Given the description of an element on the screen output the (x, y) to click on. 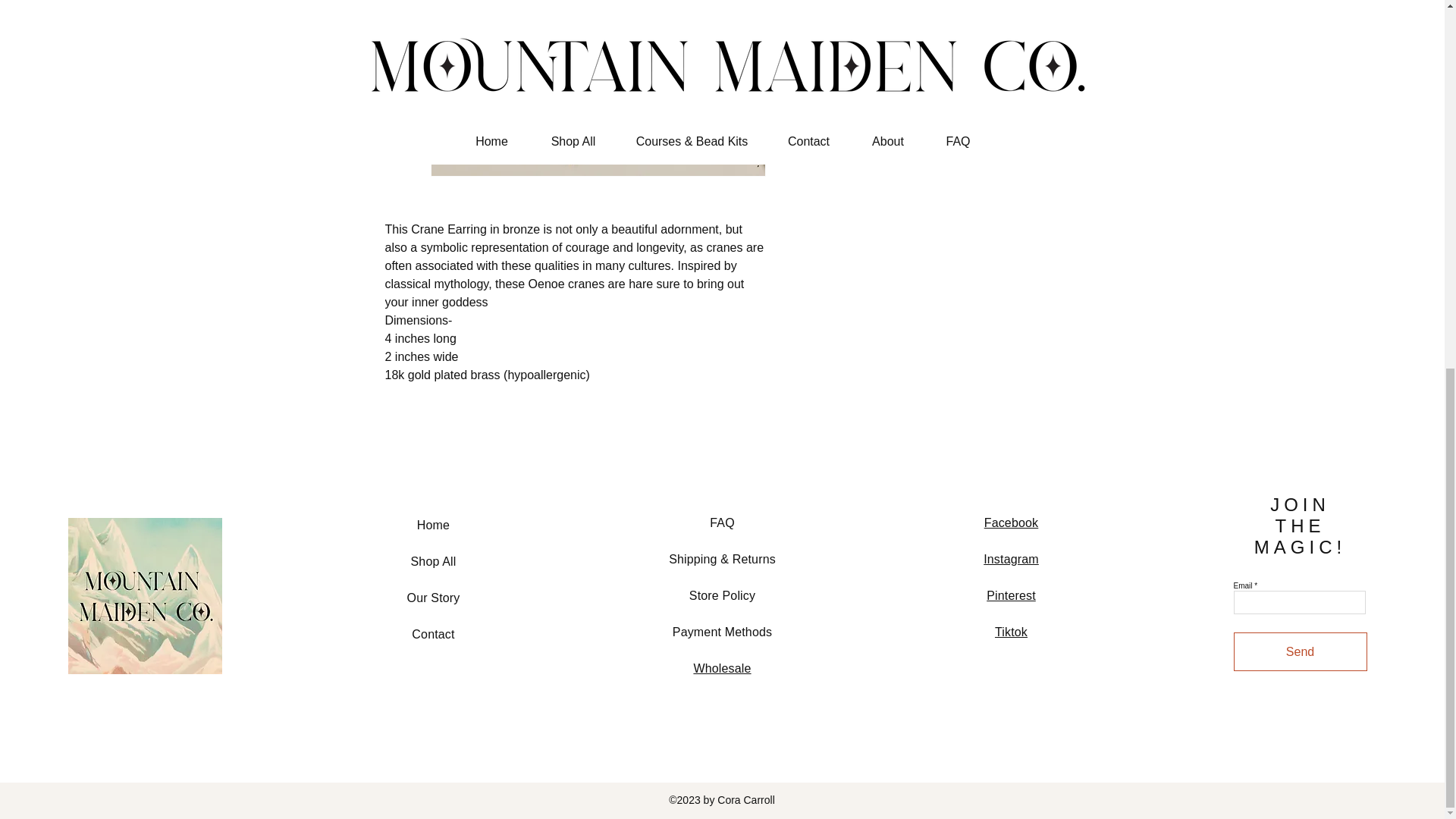
Our Story (433, 597)
FAQ (722, 522)
Contact (433, 634)
Tiktok (1010, 631)
Payment Methods (721, 631)
Shop All (433, 561)
Wholesale (722, 667)
Send (1300, 651)
Store Policy (721, 594)
Home (432, 524)
